Given the description of an element on the screen output the (x, y) to click on. 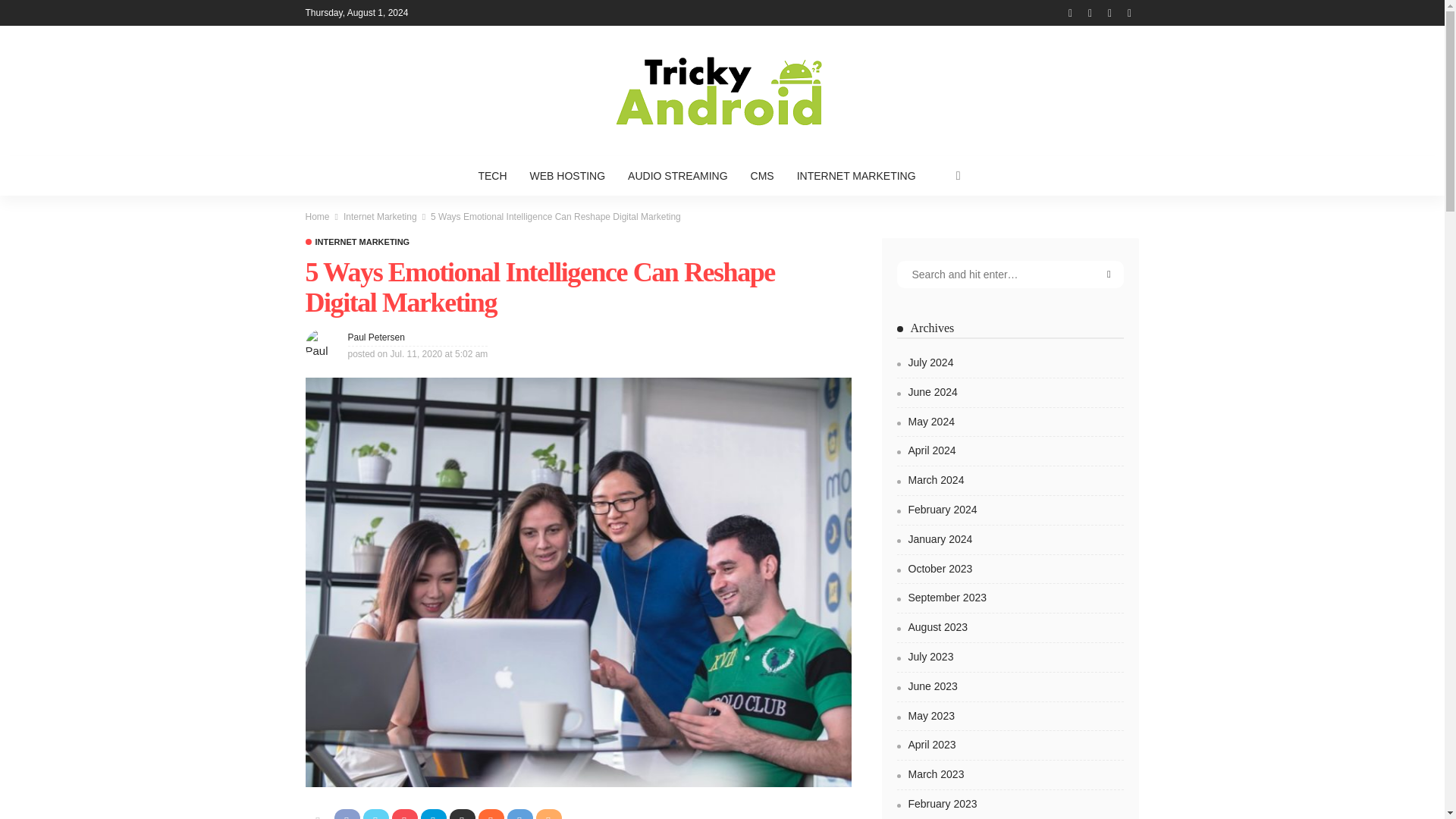
search (958, 175)
Internet Marketing (356, 242)
Tricky Android (721, 90)
Home (316, 216)
